Given the description of an element on the screen output the (x, y) to click on. 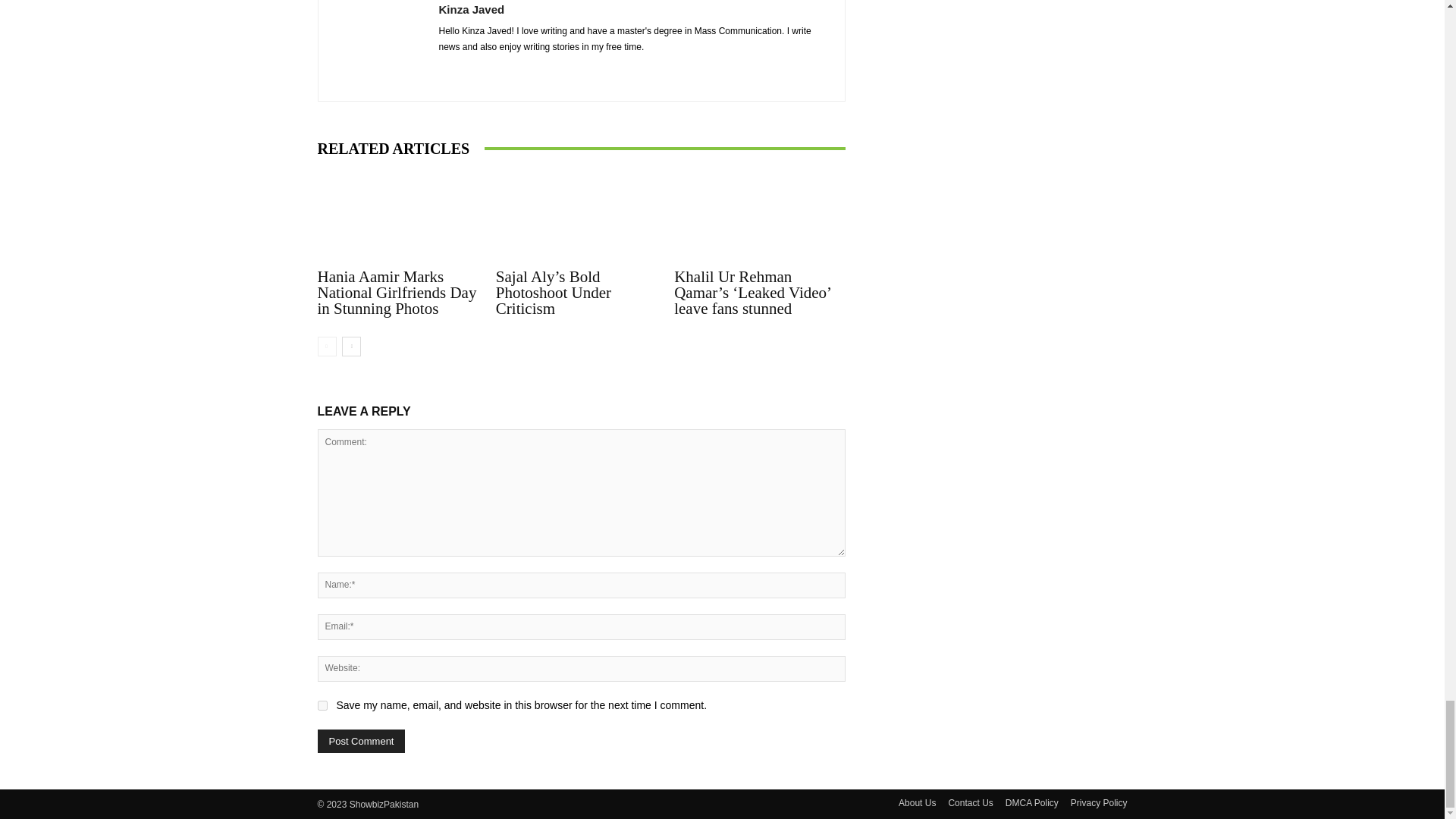
yes (321, 705)
Post Comment (360, 740)
